Given the description of an element on the screen output the (x, y) to click on. 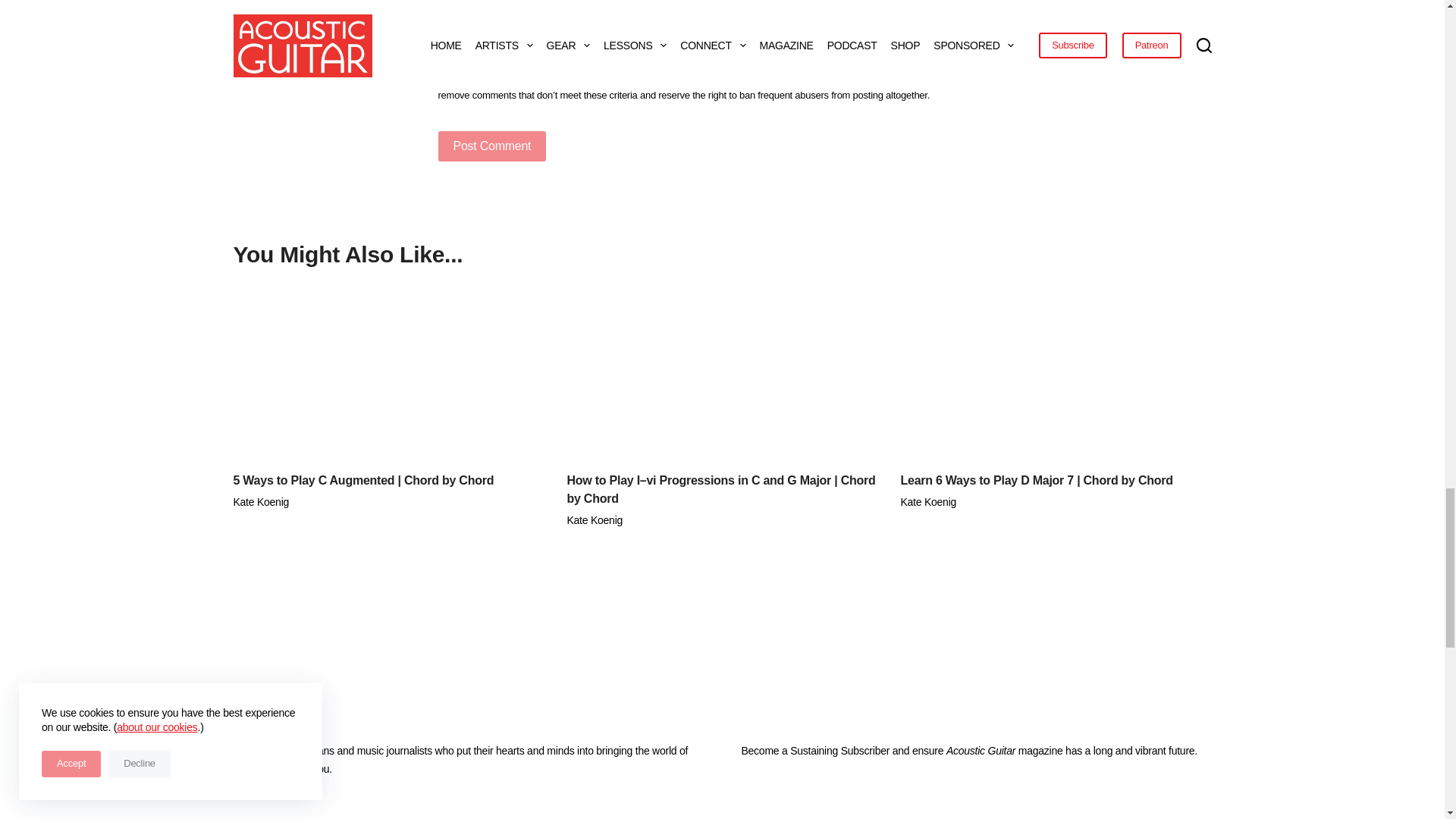
on (443, 68)
Posts by Kate Koenig (595, 520)
Posts by Kate Koenig (928, 501)
Posts by Kate Koenig (260, 501)
